Given the description of an element on the screen output the (x, y) to click on. 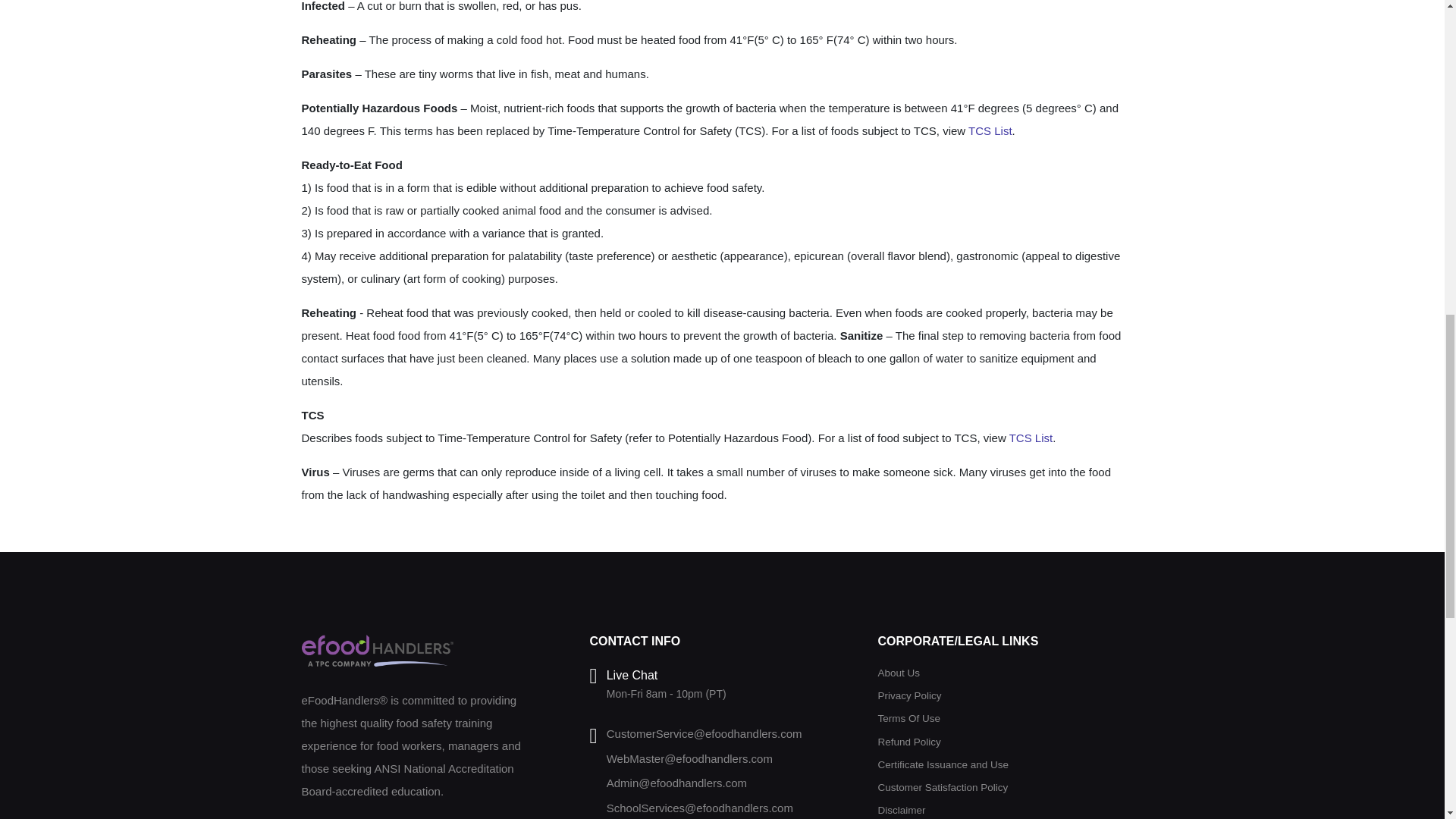
TCS List (989, 130)
TCS List (1030, 436)
